Given the description of an element on the screen output the (x, y) to click on. 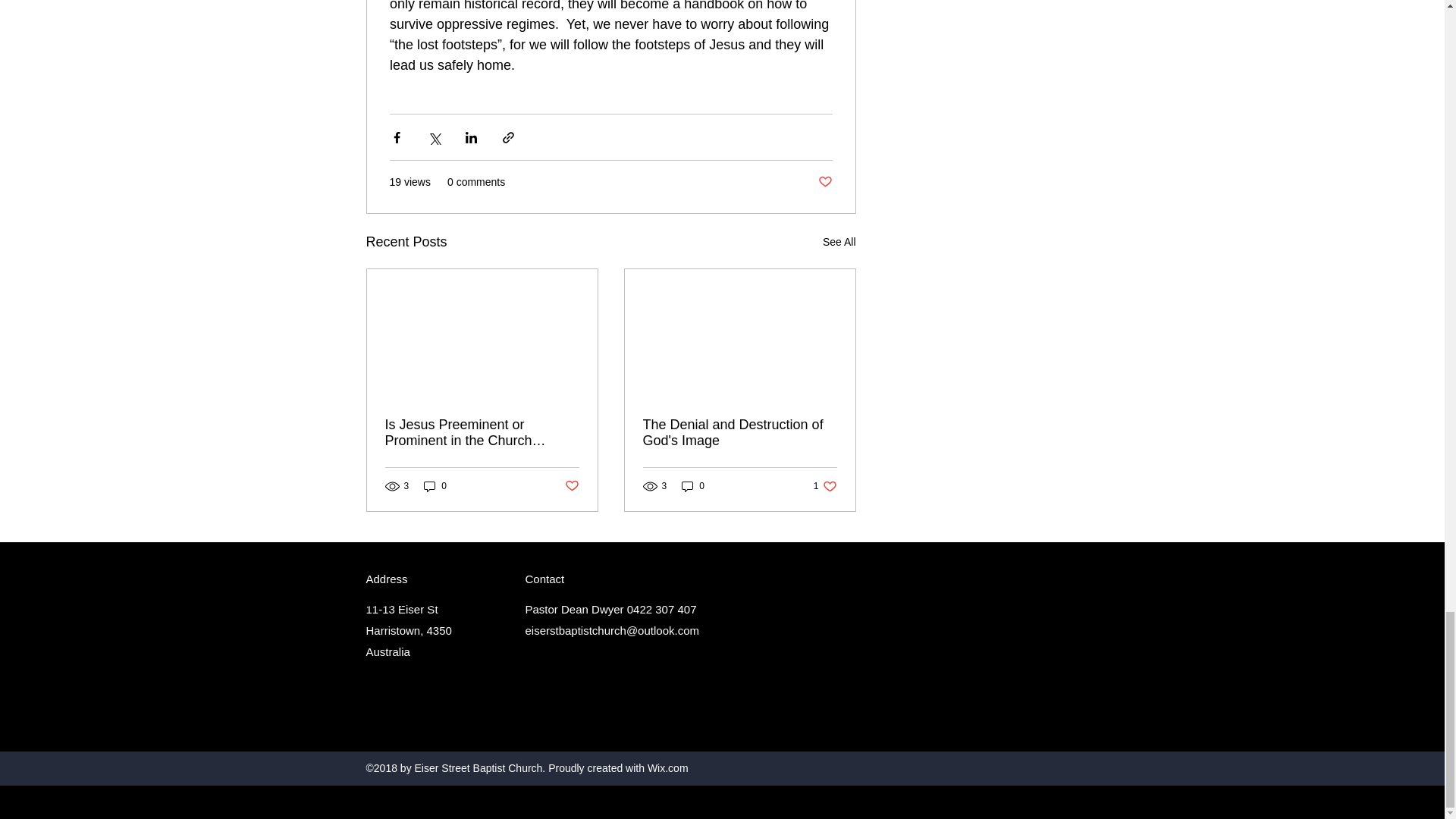
Is Jesus Preeminent or Prominent in the Church Today? (482, 432)
Post not marked as liked (823, 182)
The Denial and Destruction of God's Image (740, 432)
See All (825, 486)
0 (839, 241)
Post not marked as liked (435, 486)
0 (571, 485)
